Given the description of an element on the screen output the (x, y) to click on. 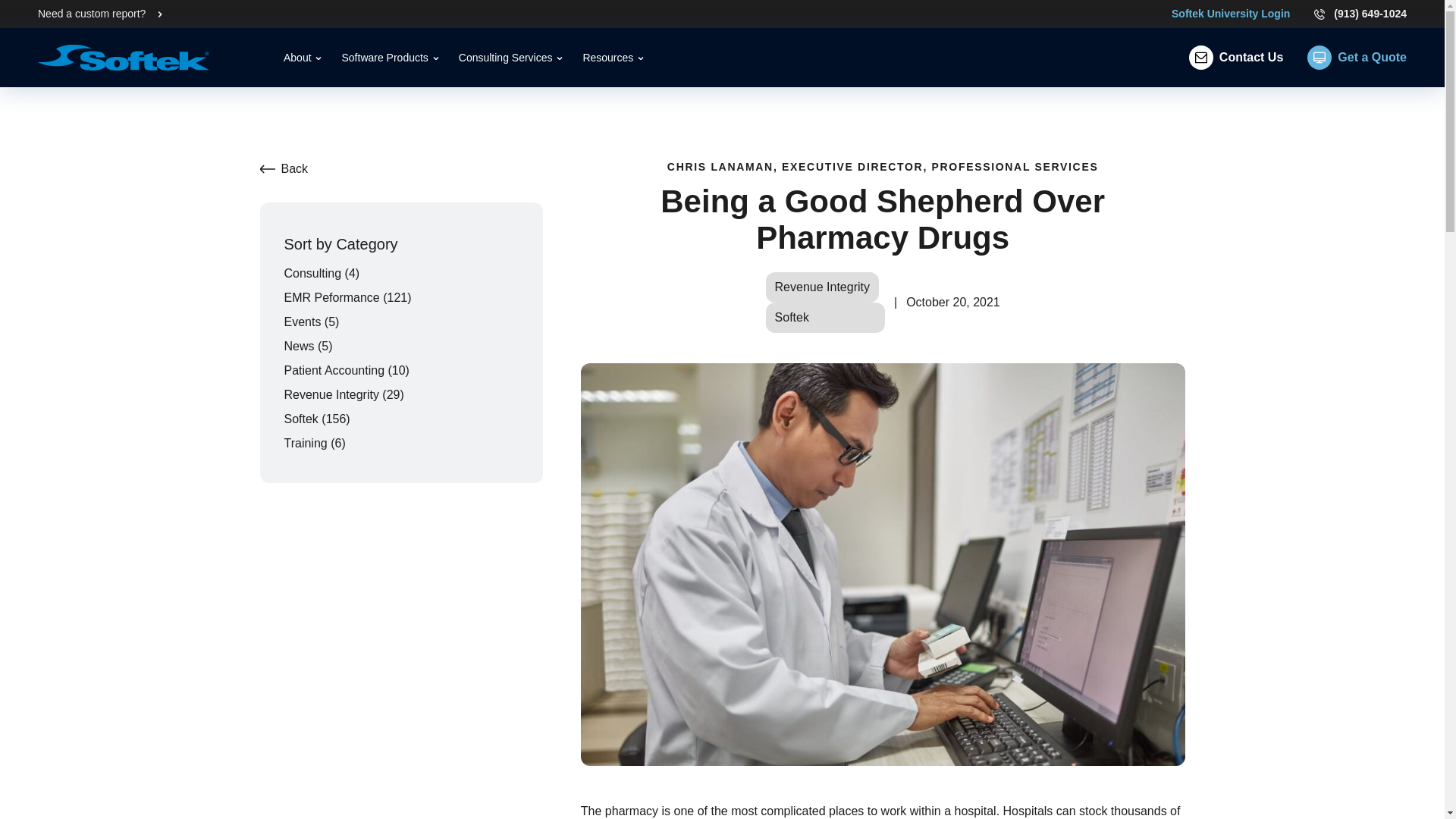
Get a Quote (1356, 57)
Contact Us (1235, 57)
Resources (613, 57)
Back (294, 168)
Software Products (389, 57)
Consulting Services (511, 57)
Softek University Login (1231, 13)
About (303, 57)
Need a custom report? (91, 13)
